Given the description of an element on the screen output the (x, y) to click on. 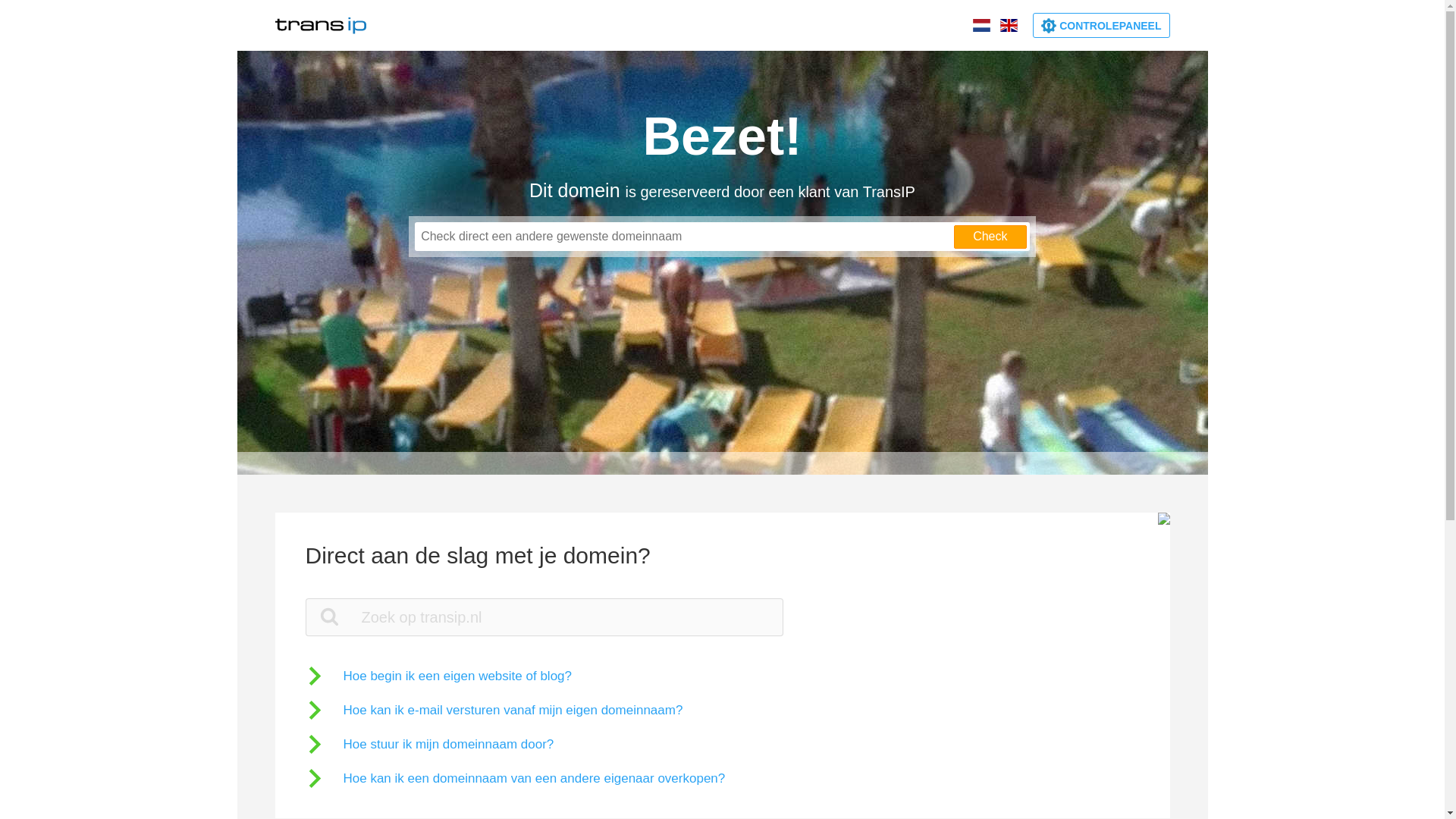
CONTROLEPANEEL Element type: text (1100, 24)
Hoe kan ik een domeinnaam van een andere eigenaar overkopen? Element type: text (514, 777)
Check Element type: text (989, 236)
Hoe begin ik een eigen website of blog? Element type: text (437, 675)
Hoe stuur ik mijn domeinnaam door? Element type: text (428, 743)
Hoe kan ik e-mail versturen vanaf mijn eigen domeinnaam? Element type: text (493, 709)
